Given the description of an element on the screen output the (x, y) to click on. 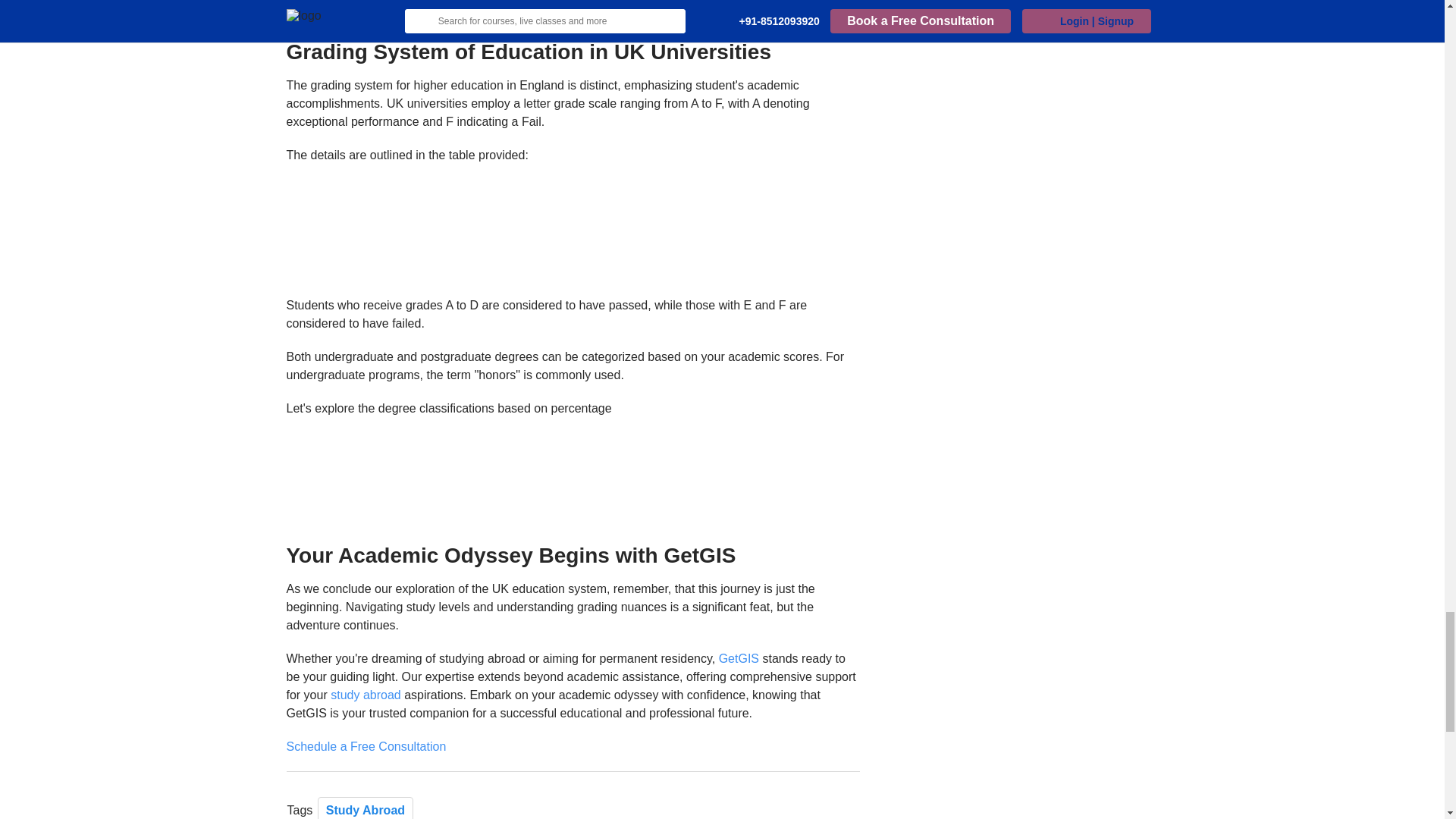
GetGIS (738, 658)
UK vs Canada: Which is Better for Immigration? (463, 10)
Study Abroad (365, 807)
study abroad (365, 694)
Schedule a Free Consultation (366, 746)
Interactive or visual content (573, 236)
